Given the description of an element on the screen output the (x, y) to click on. 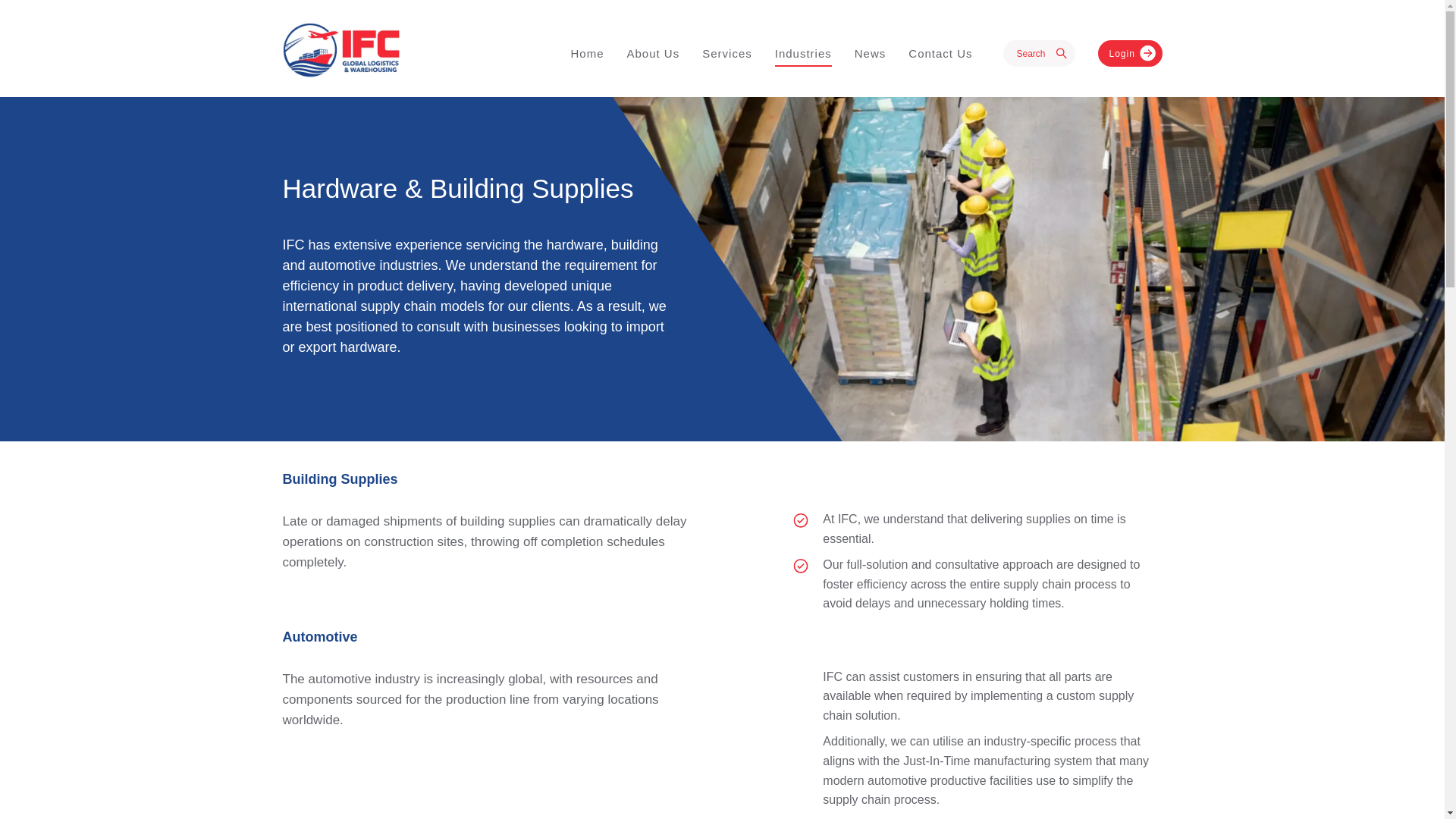
News (870, 53)
submit (1062, 54)
Services (726, 53)
About Us (652, 53)
Login (1129, 53)
submit (1062, 54)
Home (587, 53)
Industries (802, 53)
Contact Us (940, 53)
